Given the description of an element on the screen output the (x, y) to click on. 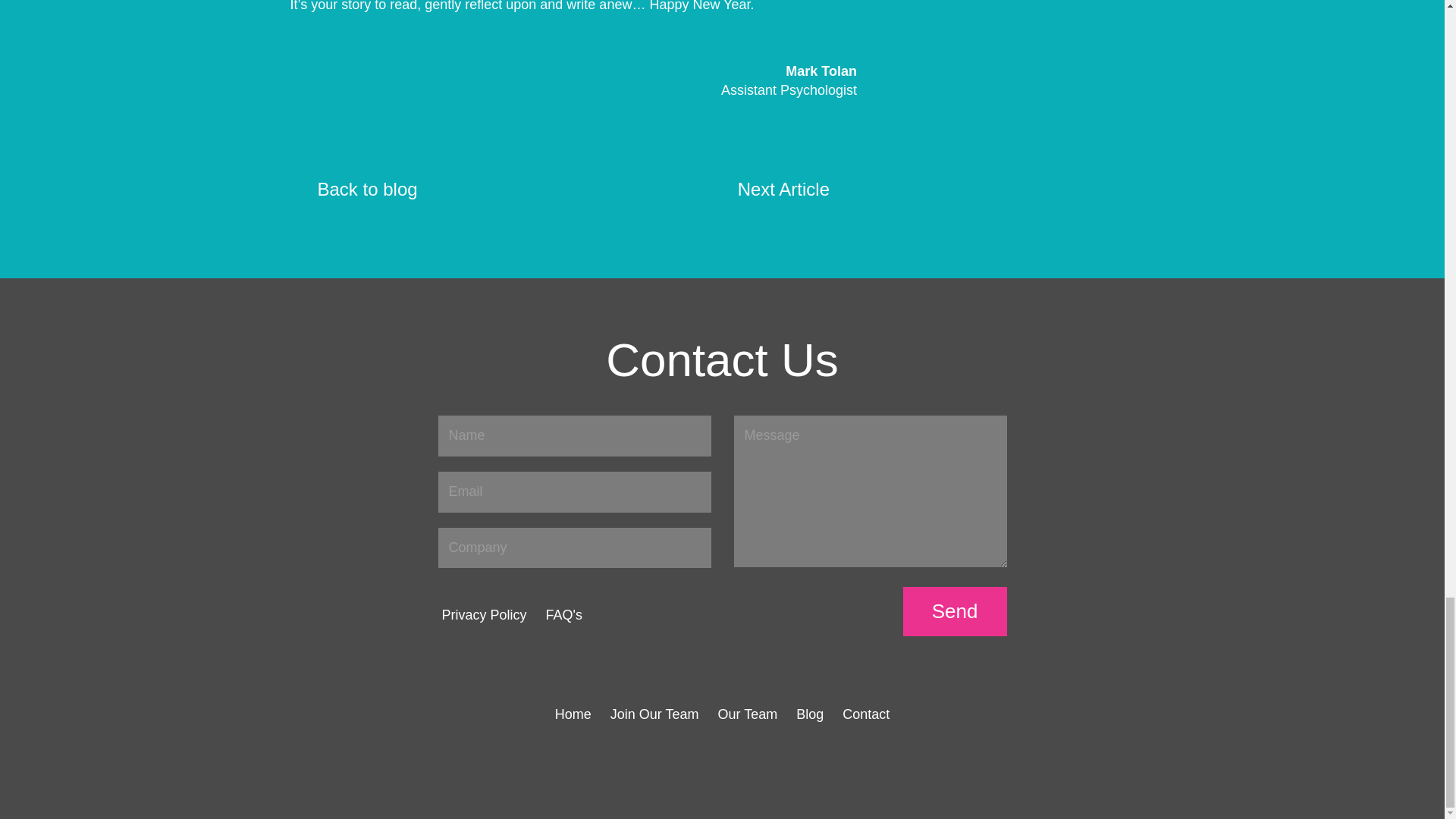
Email (574, 491)
Send (954, 611)
Next Article (783, 189)
Privacy Policy (483, 614)
Back to blog (366, 189)
Company (574, 547)
Our Team (747, 713)
Send (954, 611)
Name (574, 435)
Home (572, 713)
